Given the description of an element on the screen output the (x, y) to click on. 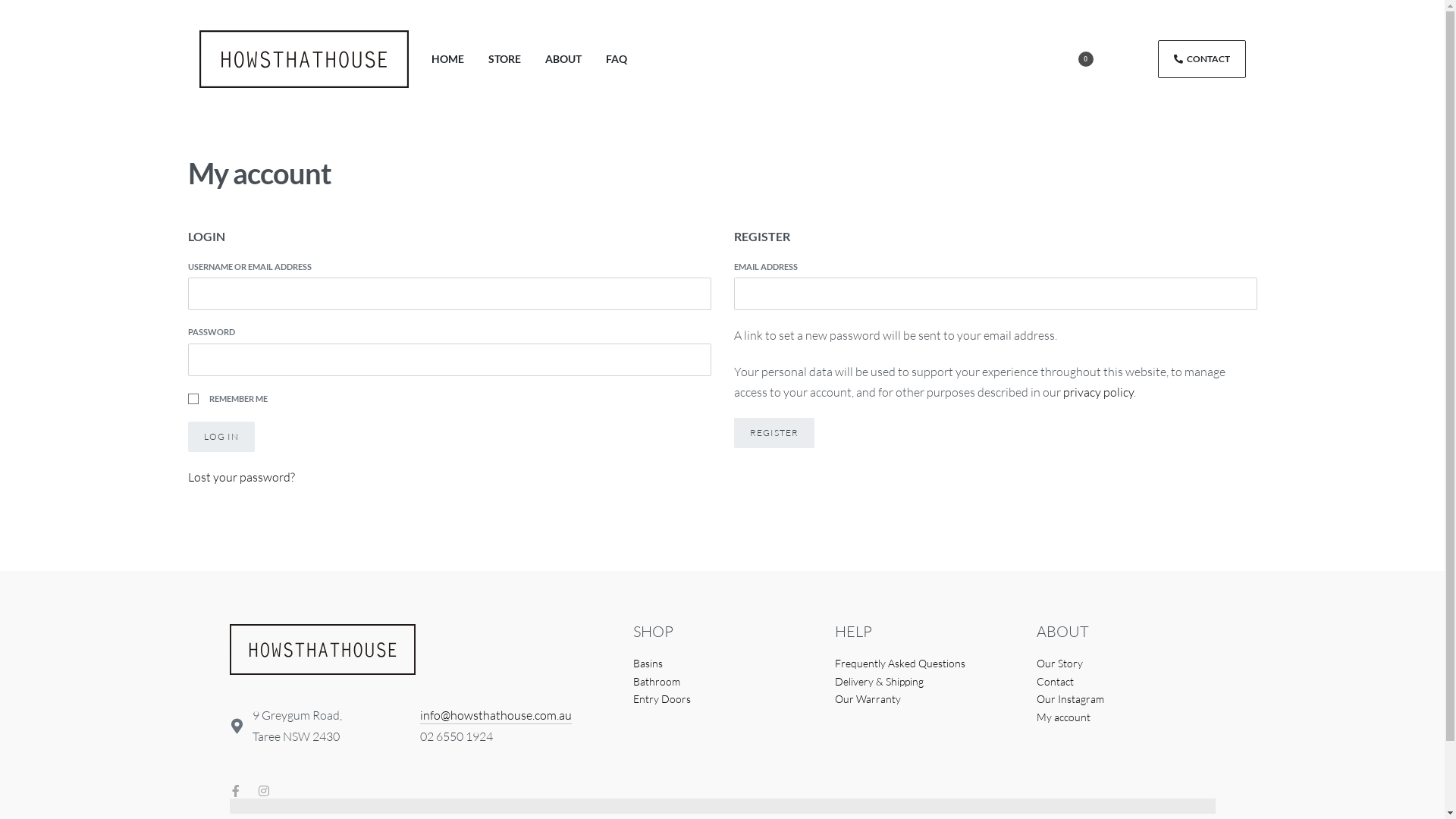
Delivery & Shipping Element type: text (923, 681)
info@howsthathouse.com.au Element type: text (495, 715)
Our Instagram Element type: text (1124, 699)
Entry Doors Element type: text (721, 699)
FAQ Element type: text (615, 59)
LOG IN Element type: text (221, 436)
Frequently Asked Questions Element type: text (923, 663)
privacy policy Element type: text (1098, 391)
Our Story Element type: text (1124, 663)
0 Element type: text (1077, 58)
ABOUT Element type: text (562, 59)
Contact Element type: text (1124, 681)
Bathroom Element type: text (721, 681)
Our Warranty Element type: text (923, 699)
My account Element type: text (1124, 717)
Basins Element type: text (721, 663)
CONTACT Element type: text (1201, 59)
REGISTER Element type: text (774, 432)
HOME Element type: text (446, 59)
Lost your password? Element type: text (241, 476)
STORE Element type: text (504, 59)
